Given the description of an element on the screen output the (x, y) to click on. 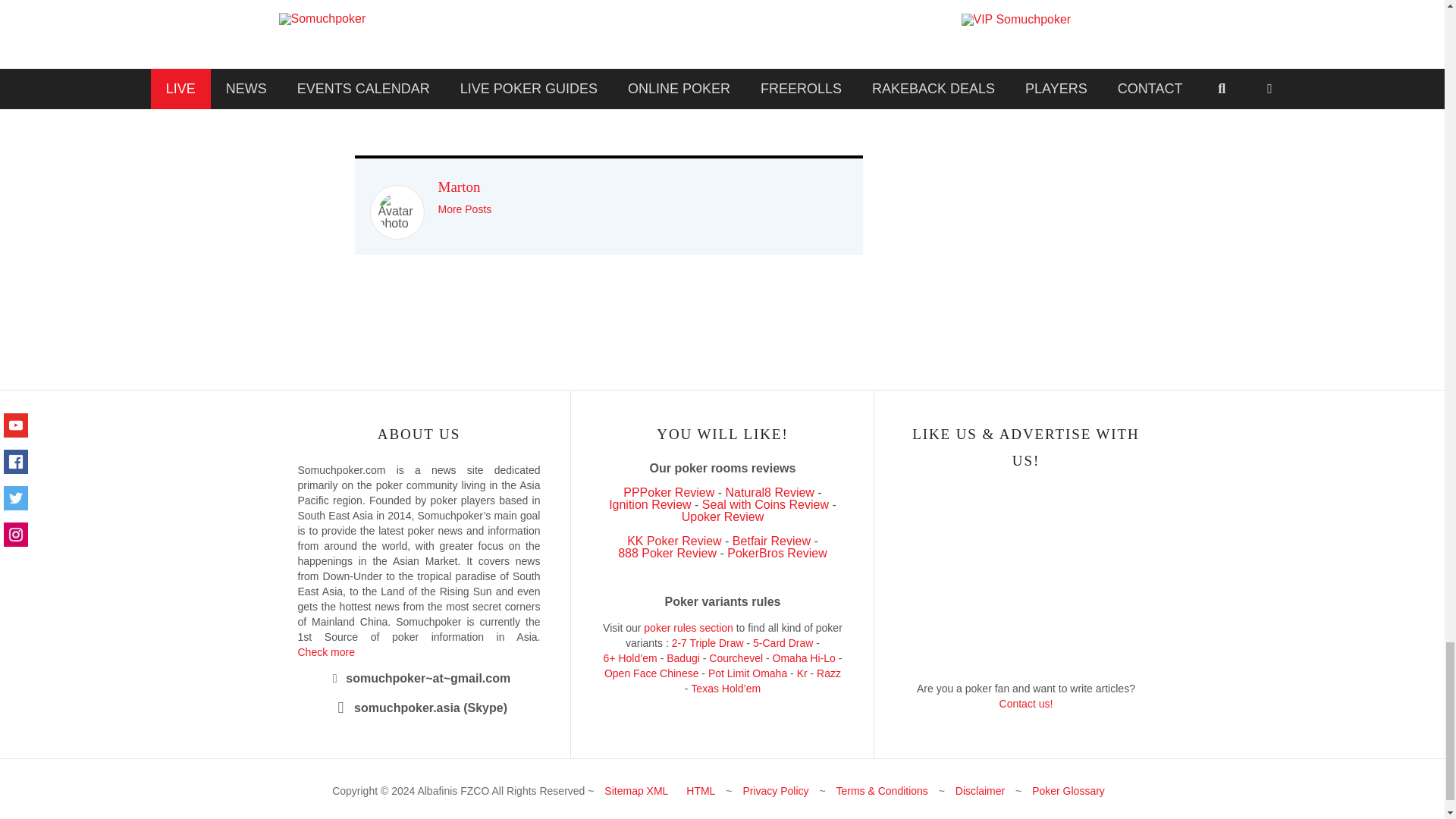
Marton (459, 186)
Poker in Mexico 3 (395, 211)
More posts by Marton (465, 209)
